Given the description of an element on the screen output the (x, y) to click on. 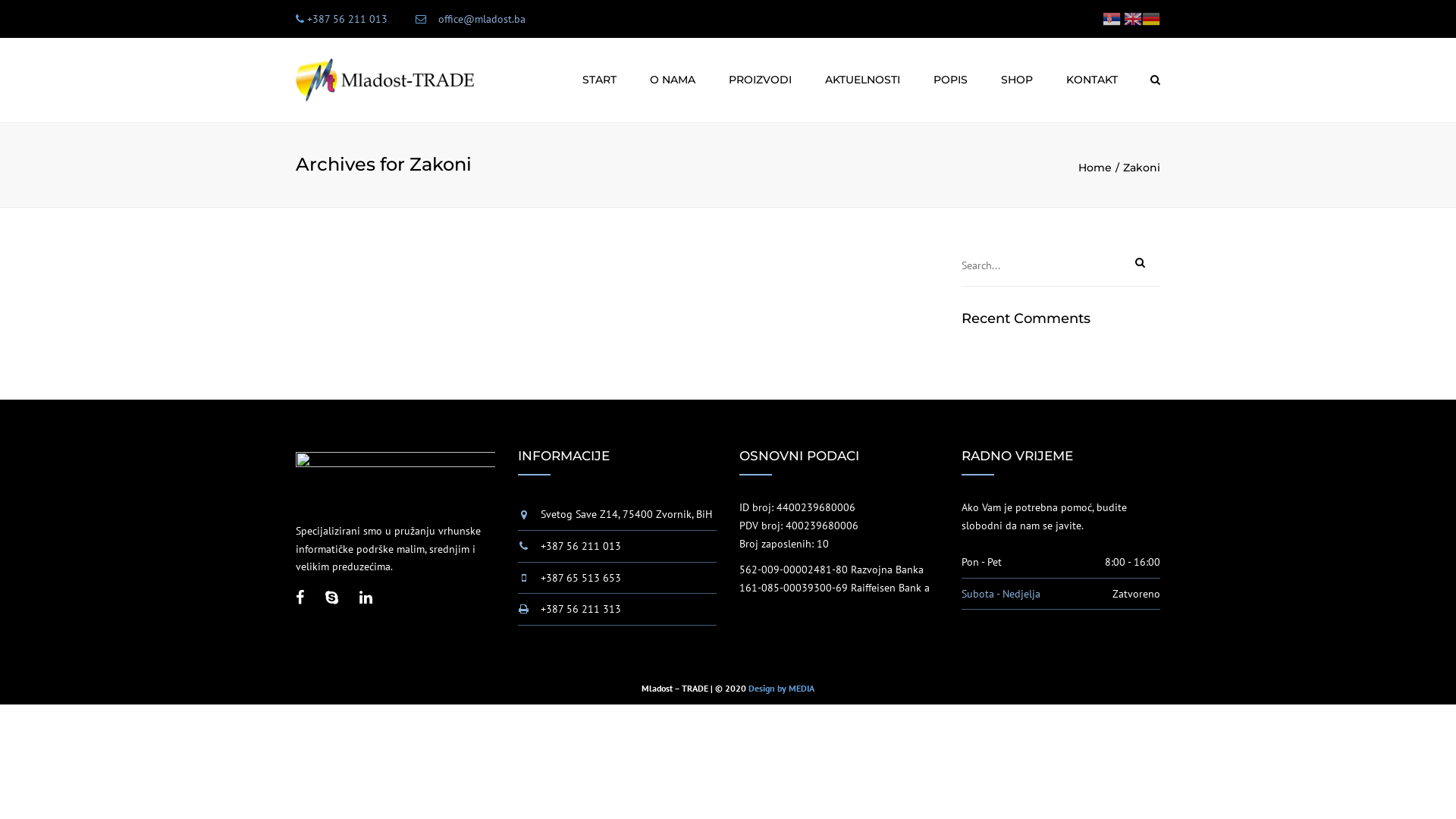
Serbian Element type: hover (1111, 18)
O NAMA Element type: text (672, 79)
Home Element type: text (1100, 167)
Design by MEDIA Element type: text (781, 687)
POPIS Element type: text (950, 79)
KONTAKT Element type: text (1091, 79)
office@mladost.ba Element type: text (481, 18)
PROIZVODI Element type: text (760, 79)
+387 56 211 013 Element type: text (347, 18)
German Element type: hover (1151, 18)
SHOP Element type: text (1016, 79)
AKTUELNOSTI Element type: text (862, 79)
Search Element type: text (1155, 79)
English Element type: hover (1132, 18)
START Element type: text (599, 79)
